Given the description of an element on the screen output the (x, y) to click on. 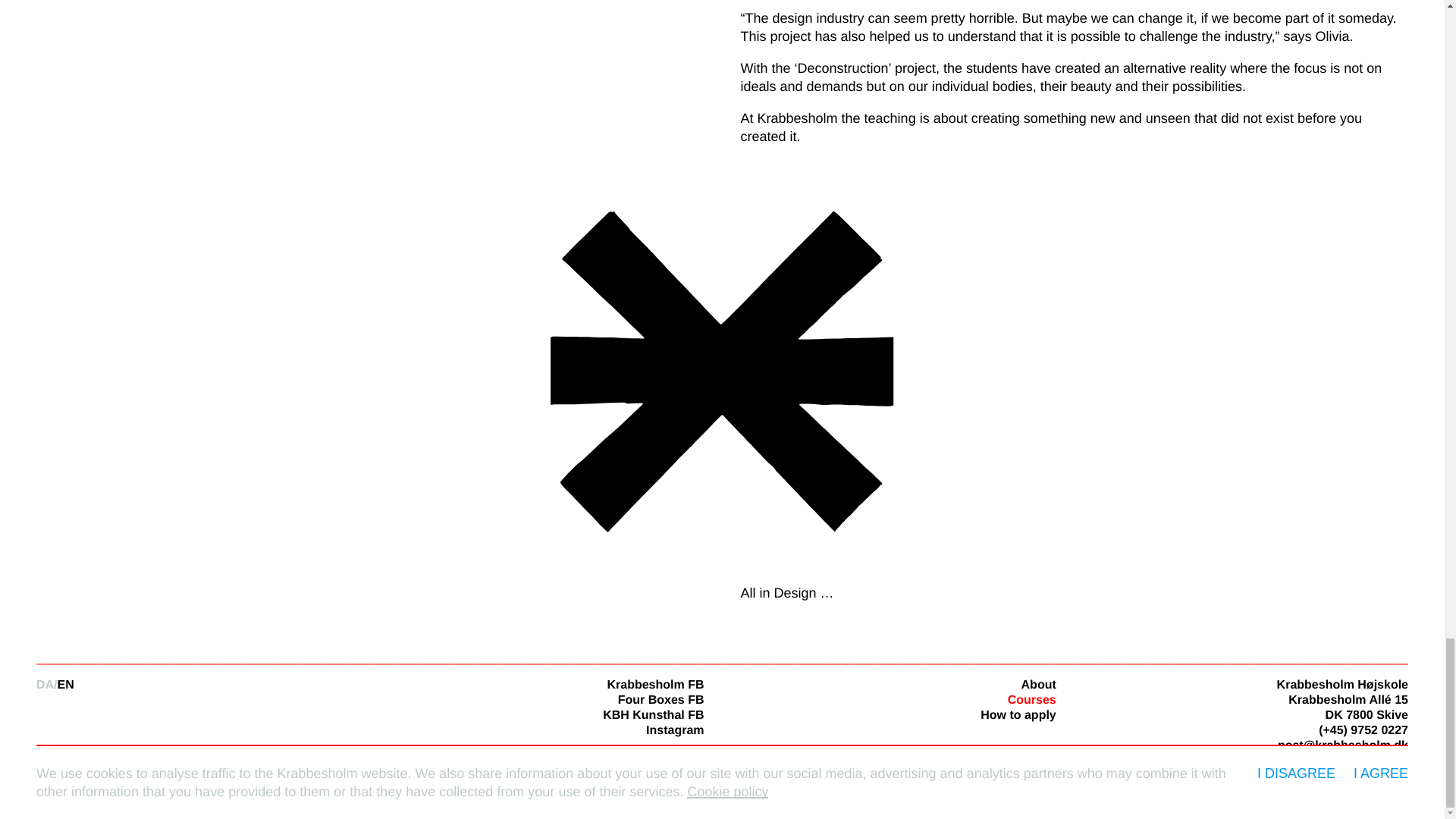
DA (47, 684)
About (1039, 684)
Go to previous post (721, 538)
Instagram (674, 730)
KBH Kunsthal FB (652, 715)
Courses (1032, 699)
Krabbesholm FB (655, 684)
How to apply (1018, 715)
Four Boxes FB (660, 699)
